Given the description of an element on the screen output the (x, y) to click on. 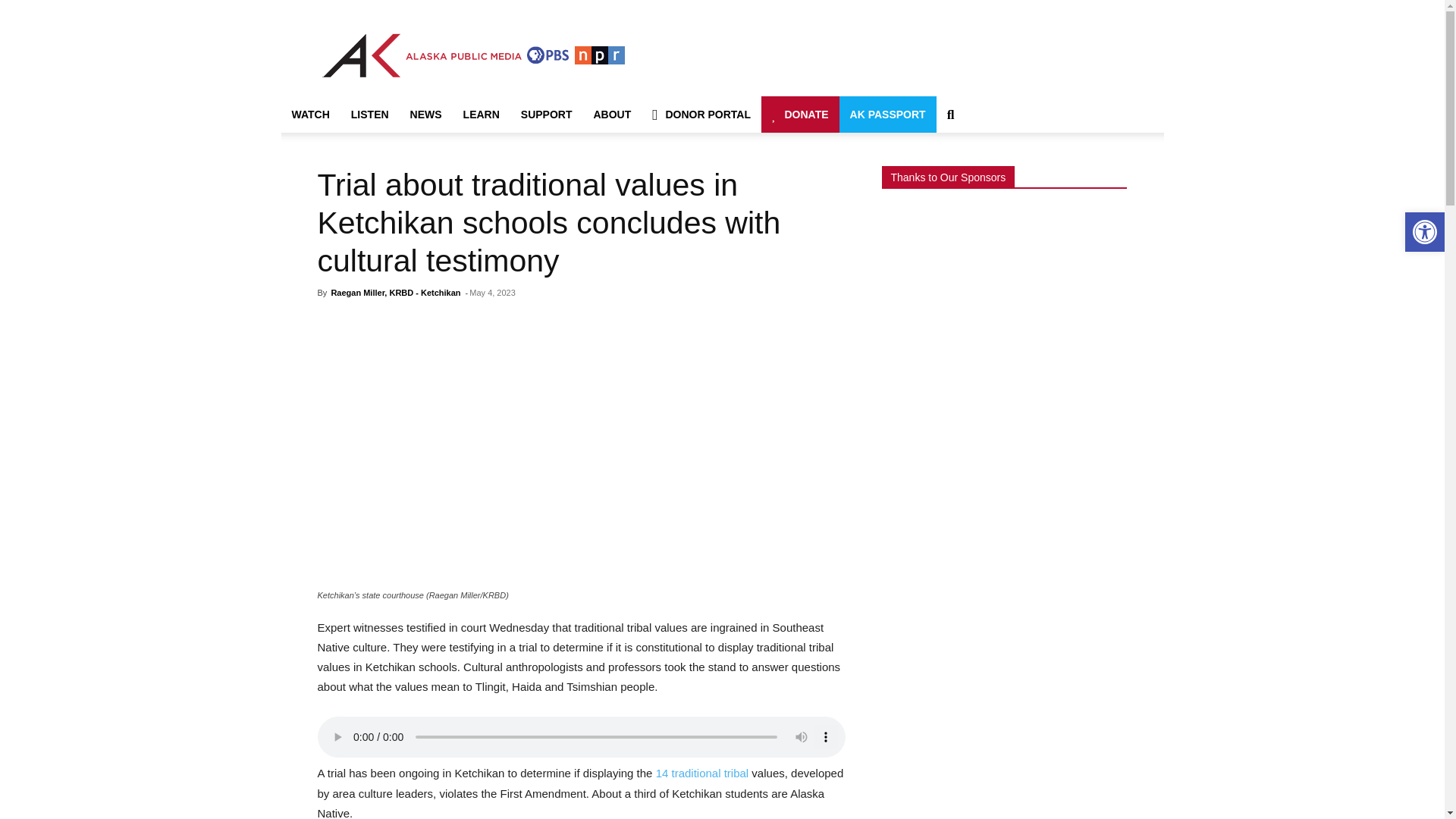
Accessibility Tools (1424, 232)
Connecting Alaskans. Life Informed.  (472, 55)
